Given the description of an element on the screen output the (x, y) to click on. 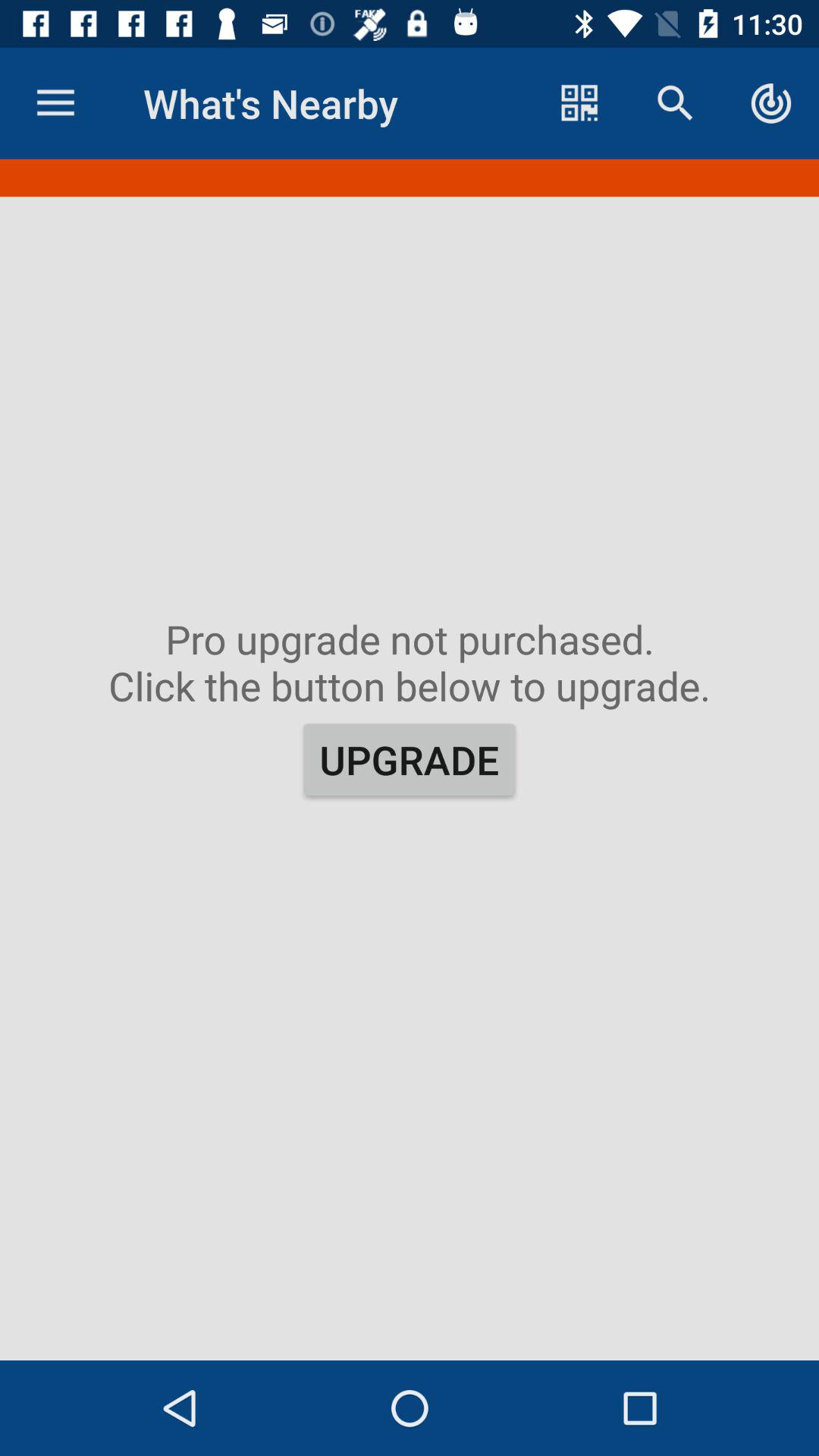
choose the icon next to the what's nearby (579, 103)
